Given the description of an element on the screen output the (x, y) to click on. 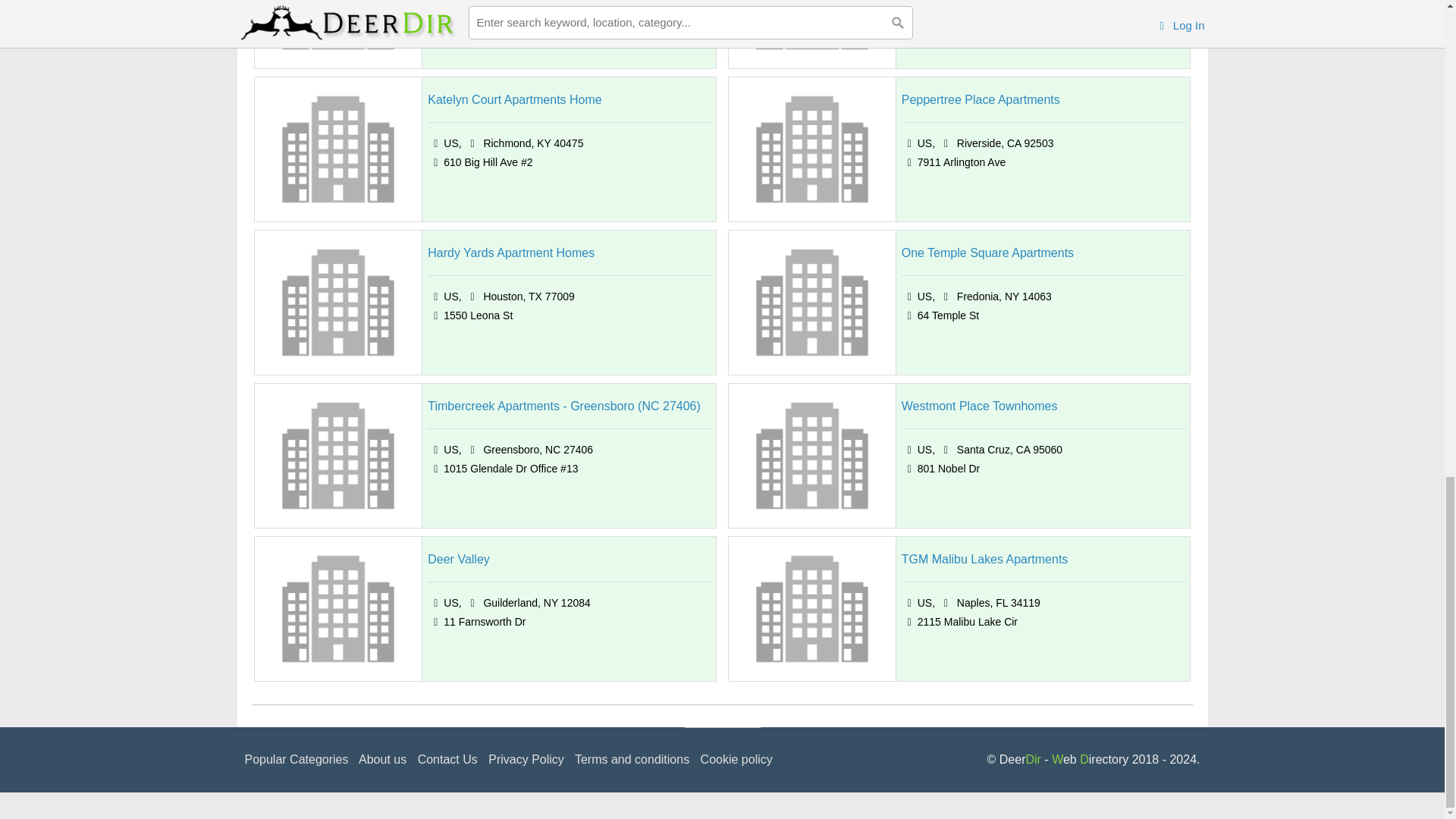
Privacy Policy (525, 758)
Terms and conditions (631, 758)
About us (382, 758)
Hardy Yards Apartment Homes (511, 252)
Deer Valley (458, 559)
Katelyn Court Apartments Home (514, 99)
TGM Malibu Lakes Apartments (984, 559)
Popular Categories (295, 758)
One Temple Square Apartments (987, 252)
Contact Us (447, 758)
Peppertree Place Apartments (980, 99)
Cookie policy (736, 758)
Westmont Place Townhomes (979, 406)
